Given the description of an element on the screen output the (x, y) to click on. 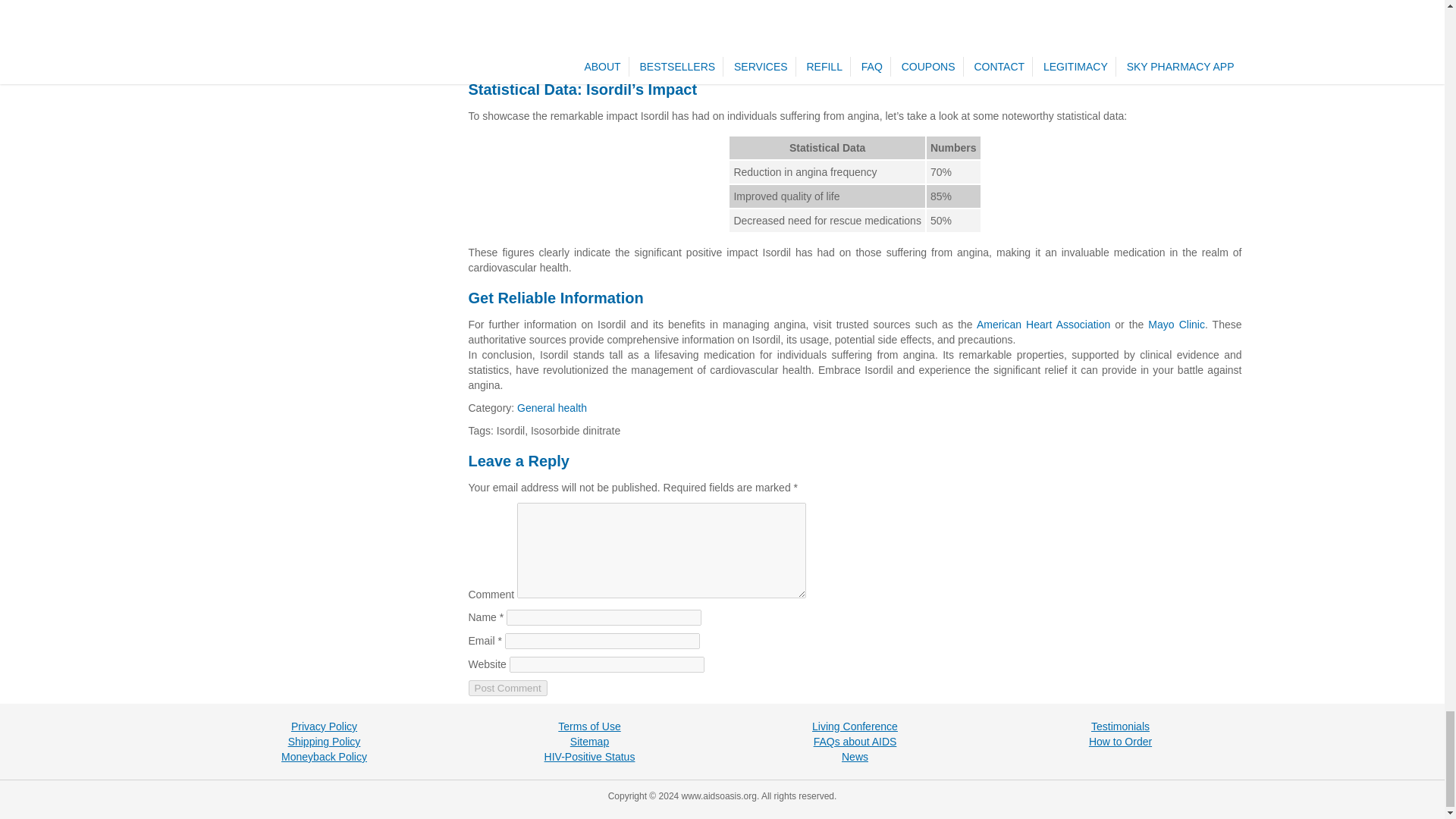
Post Comment (507, 688)
